Given the description of an element on the screen output the (x, y) to click on. 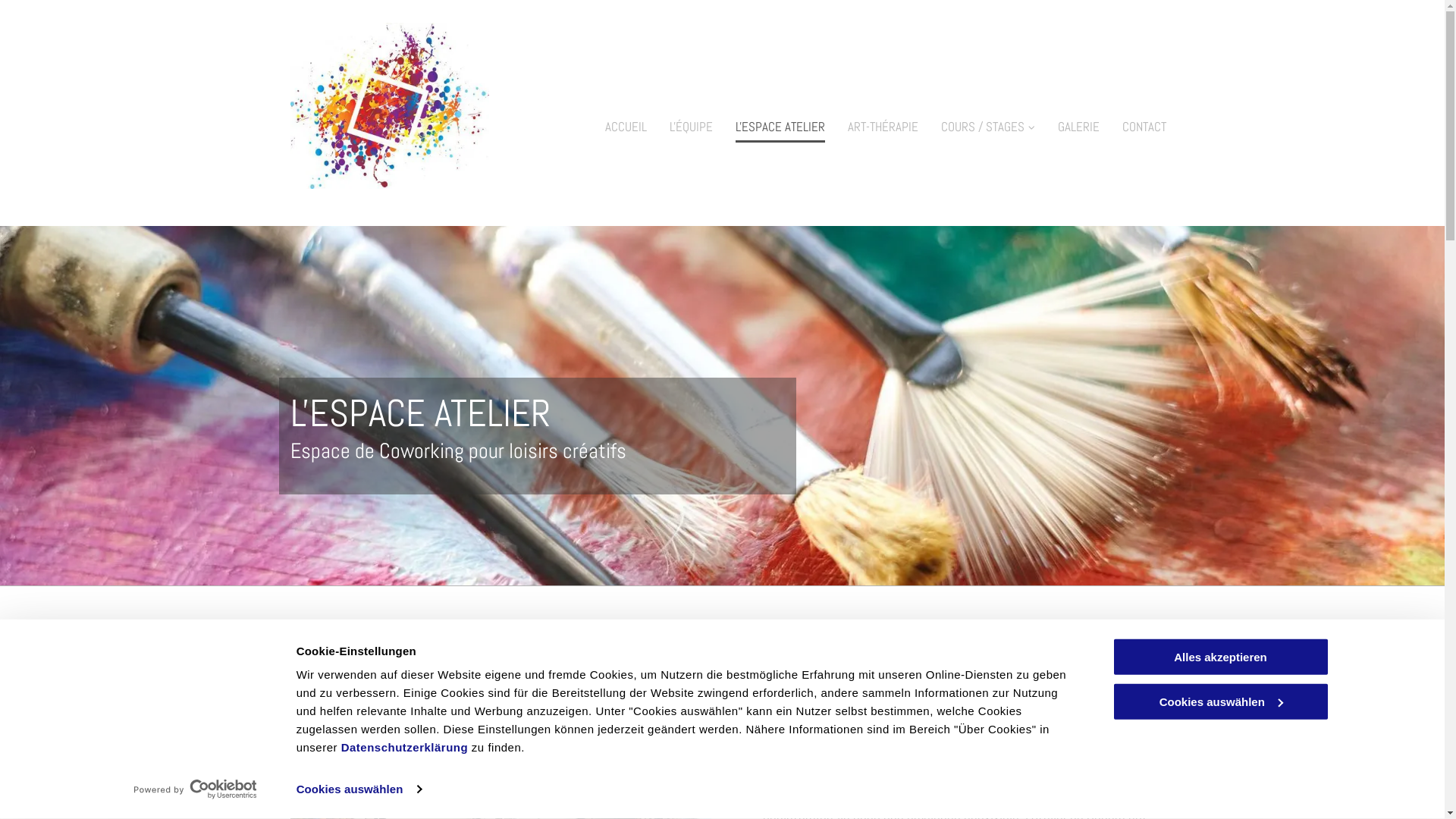
L'ESPACE ATELIER Element type: text (780, 123)
GALERIE Element type: text (1077, 123)
Alles akzeptieren Element type: text (1219, 656)
COURS / STAGES Element type: text (987, 123)
CONTACT Element type: text (1144, 123)
ACCUEIL Element type: text (625, 123)
